Given the description of an element on the screen output the (x, y) to click on. 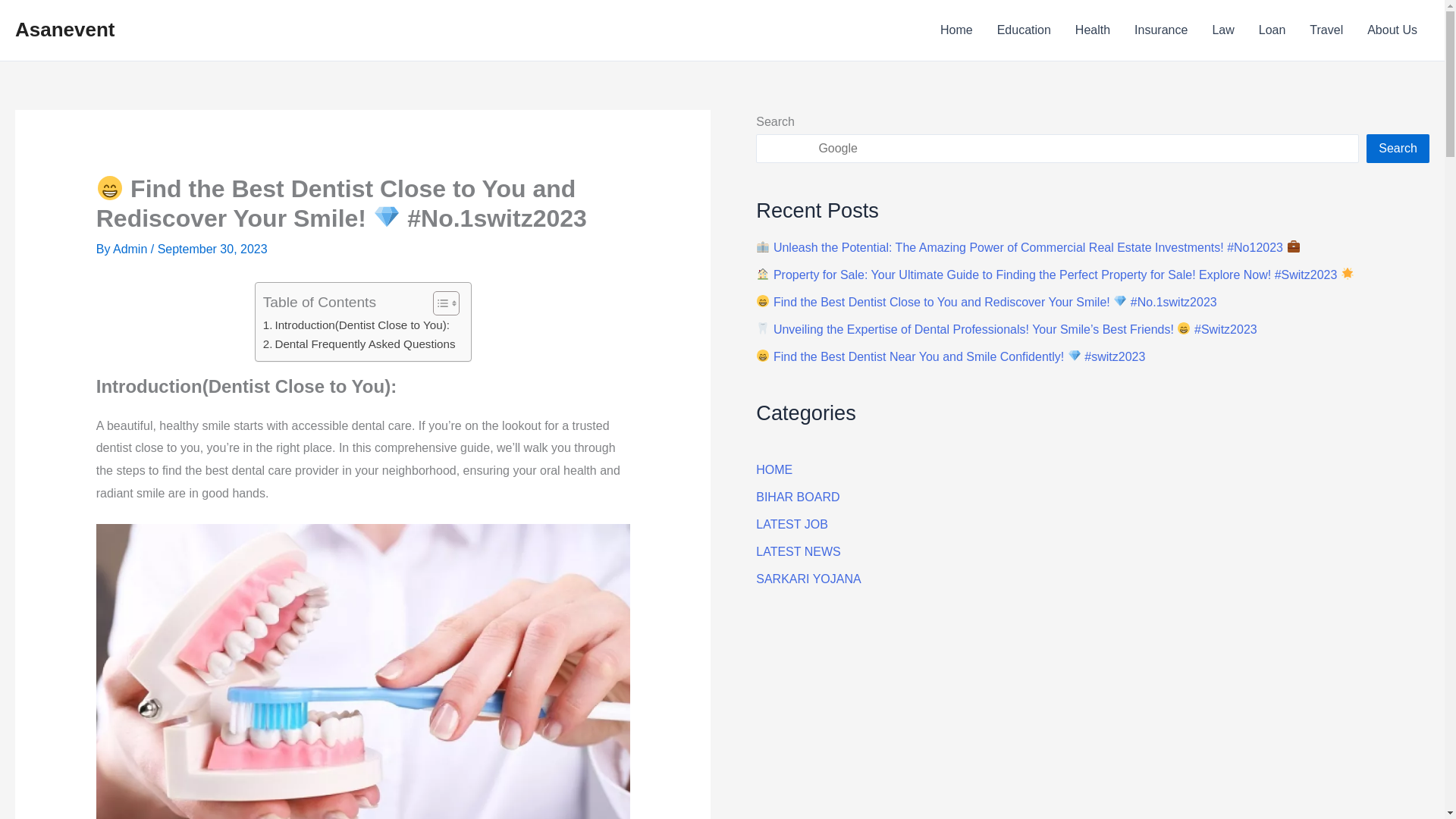
Dental Frequently Asked Questions (359, 343)
View all posts by Admin (132, 248)
Insurance (1160, 30)
Travel (1326, 30)
BIHAR BOARD (797, 496)
About Us (1392, 30)
Admin (132, 248)
Dental Frequently Asked Questions (359, 343)
Search (1398, 148)
HOME (773, 469)
Health (1092, 30)
Home (956, 30)
Education (1023, 30)
Asanevent (64, 29)
LATEST JOB (791, 523)
